Given the description of an element on the screen output the (x, y) to click on. 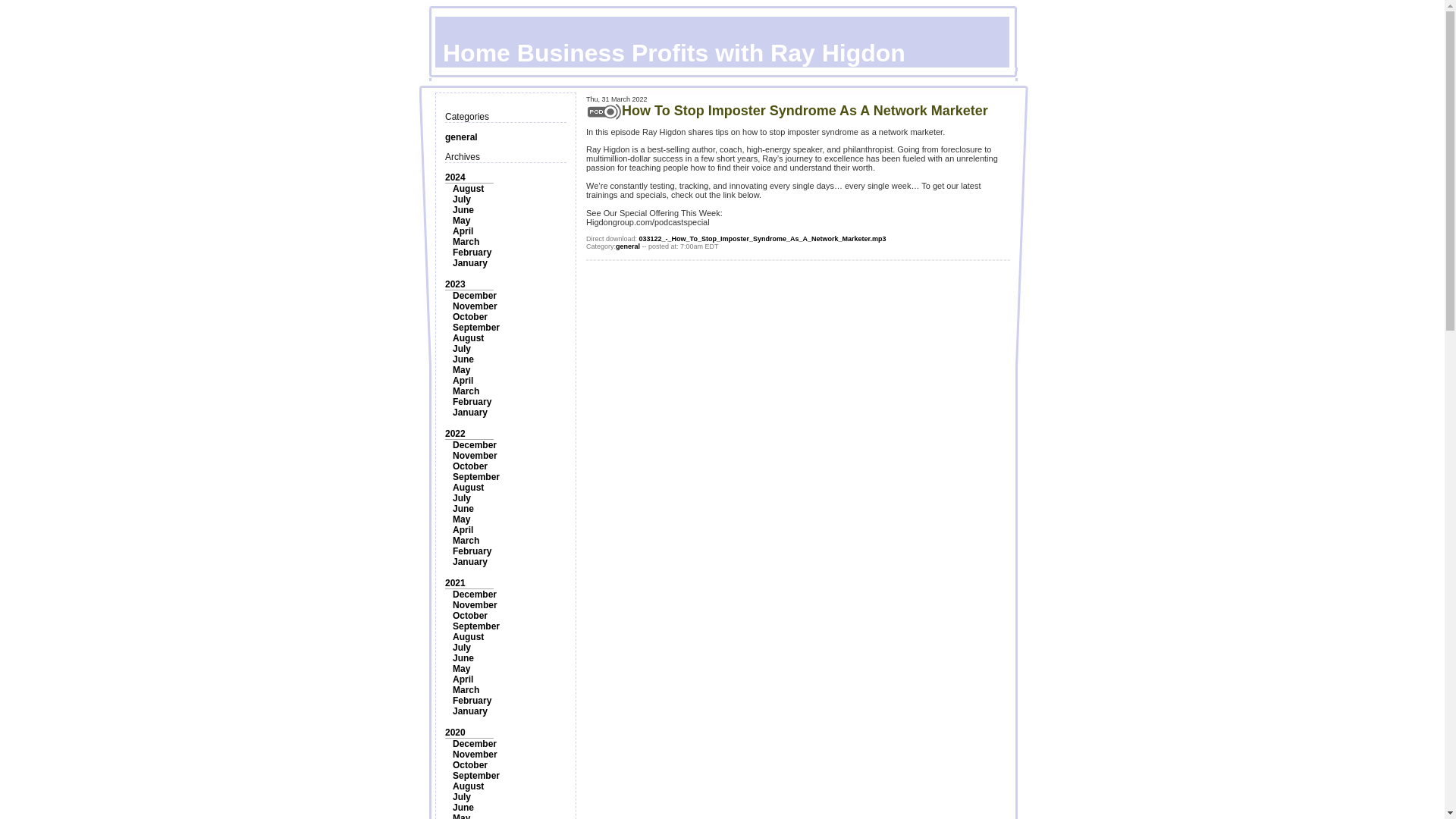
2023 (455, 284)
October (469, 466)
March (465, 241)
October (469, 317)
June (463, 209)
April (462, 380)
February (472, 401)
August (467, 487)
May (461, 519)
May (461, 220)
